Given the description of an element on the screen output the (x, y) to click on. 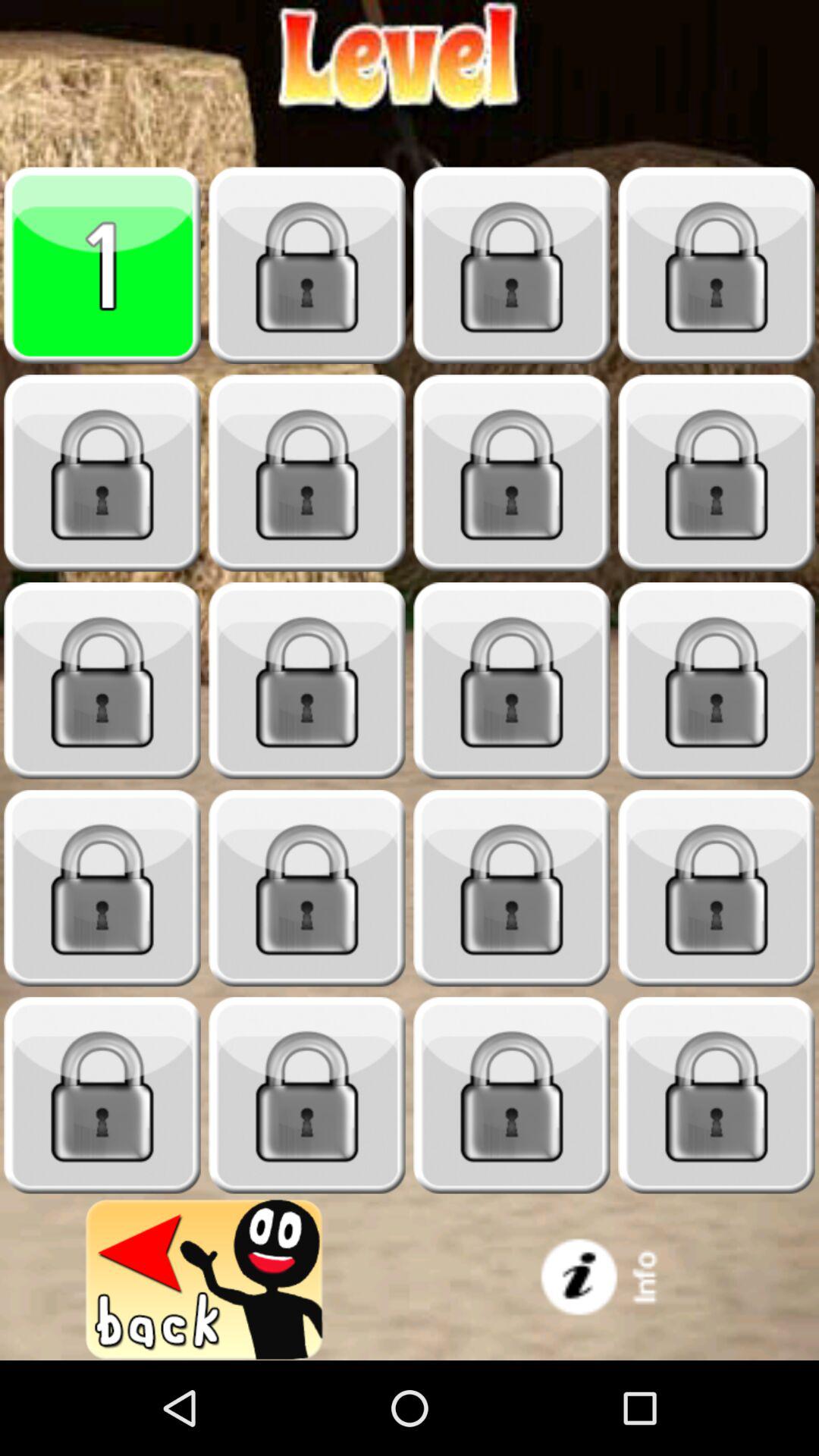
click level button (716, 473)
